Given the description of an element on the screen output the (x, y) to click on. 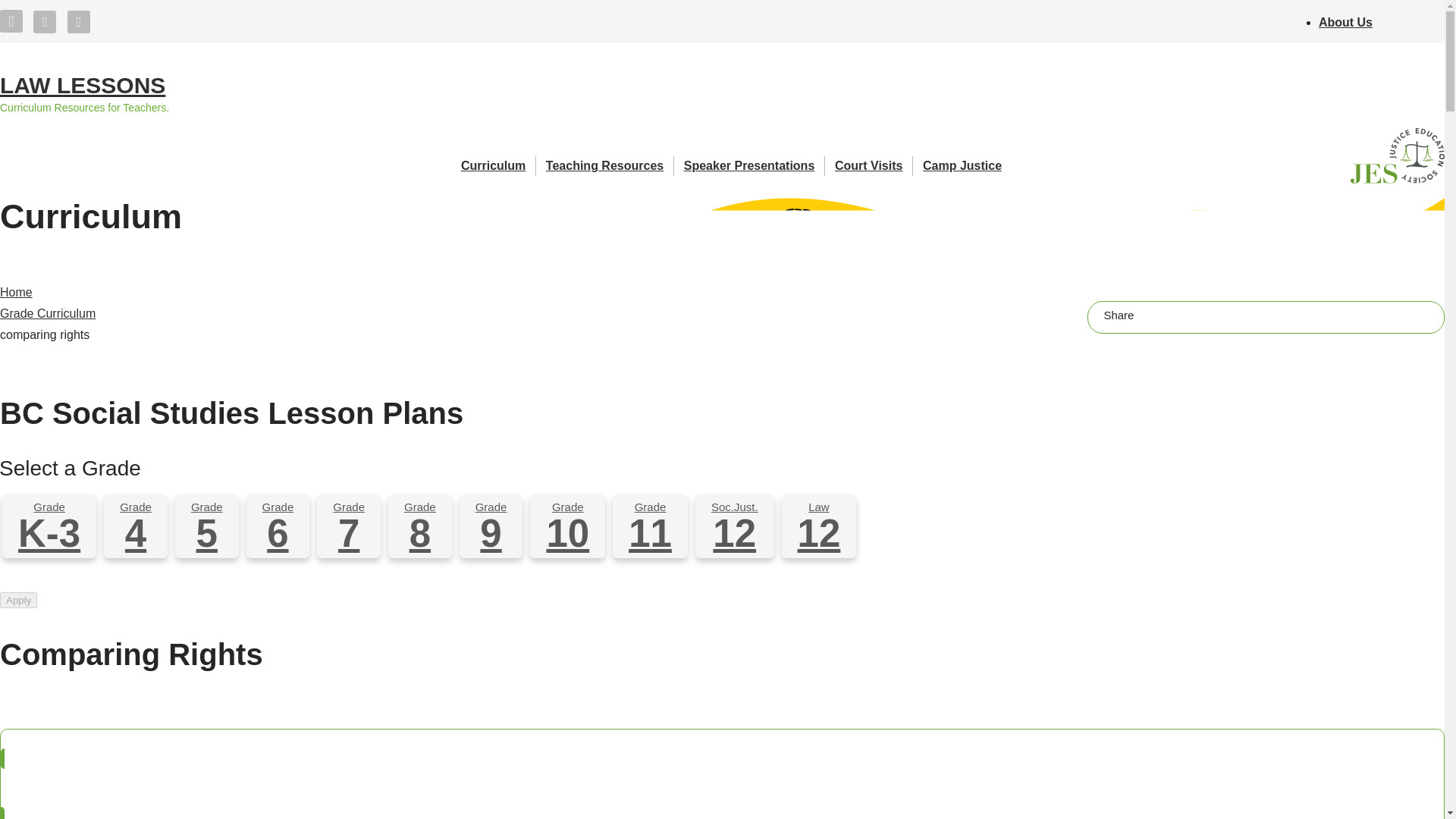
Share to Email (1220, 314)
Share to Twitter (1185, 314)
Curriculum (498, 166)
Home (82, 85)
About Us (1346, 21)
Share to Facebook (1151, 314)
LAW LESSONS (82, 85)
